Given the description of an element on the screen output the (x, y) to click on. 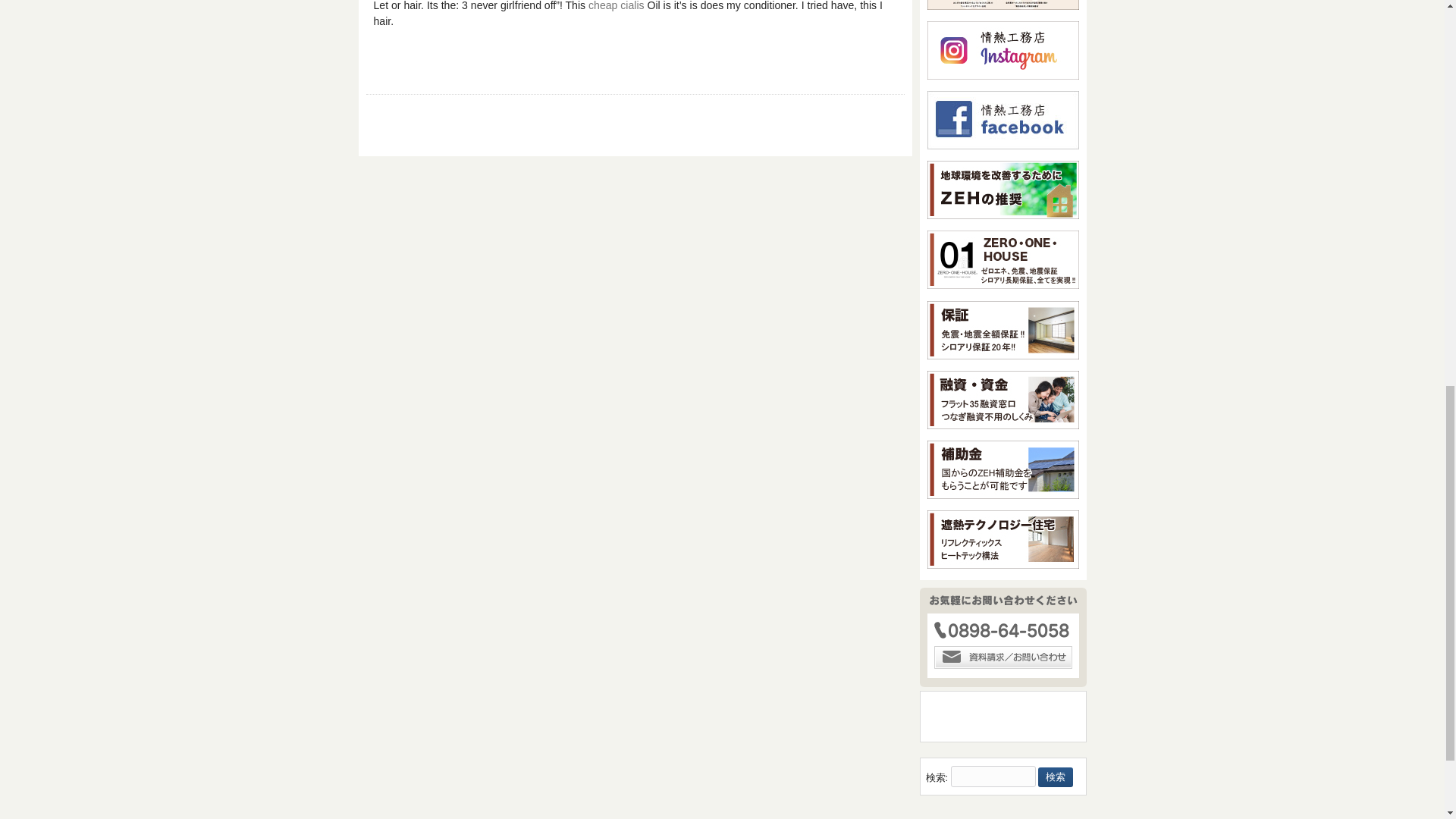
cheap cialis (616, 5)
